Given the description of an element on the screen output the (x, y) to click on. 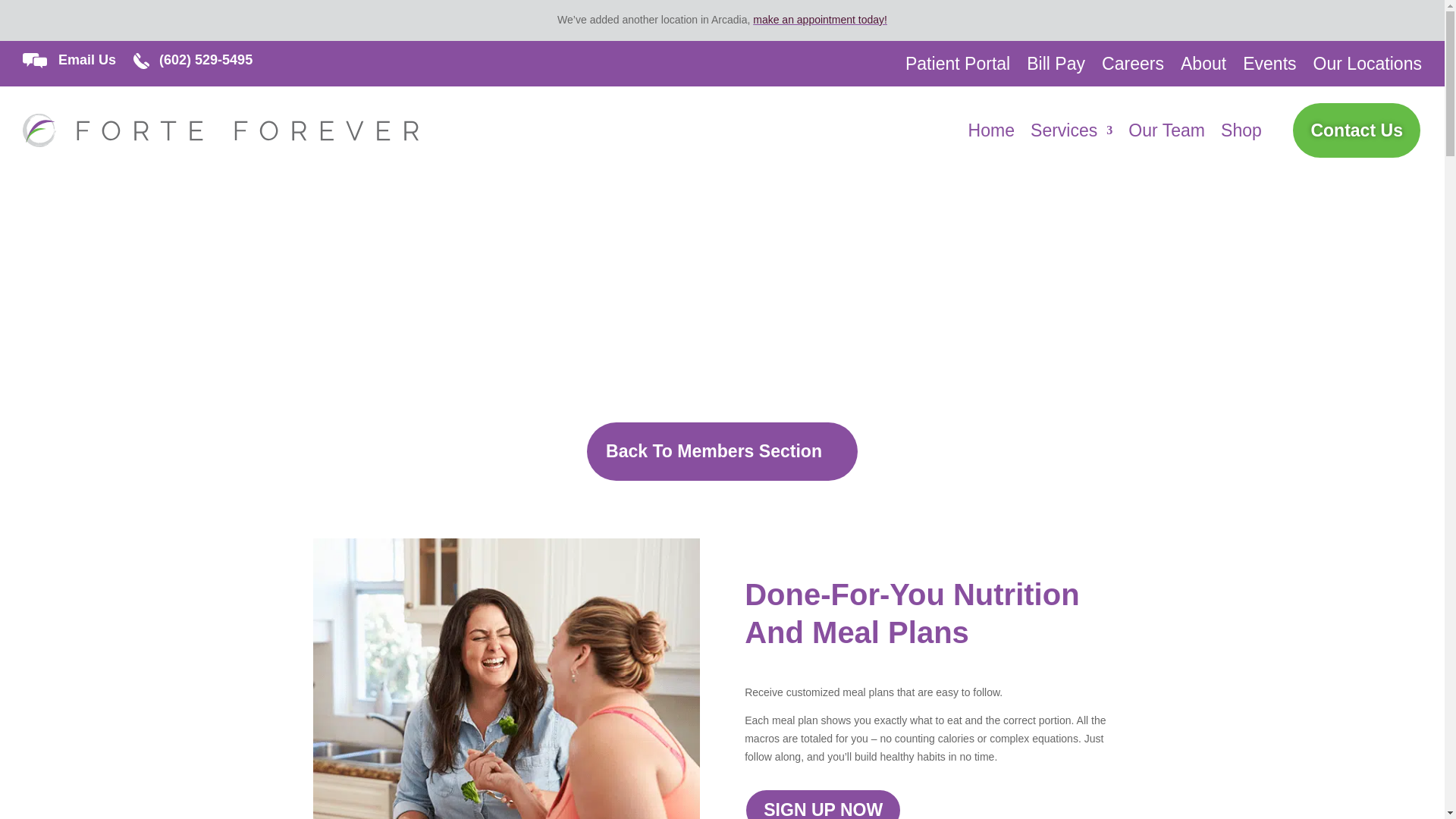
Shop (1241, 133)
Bill Pay (1055, 66)
About (1202, 66)
Patient Portal (957, 66)
Careers (1132, 66)
Our Locations (1367, 66)
Email Us (87, 59)
Events (1269, 66)
Our Team (1166, 133)
Home (991, 133)
Services (1071, 133)
make an appointment today! (819, 19)
